Given the description of an element on the screen output the (x, y) to click on. 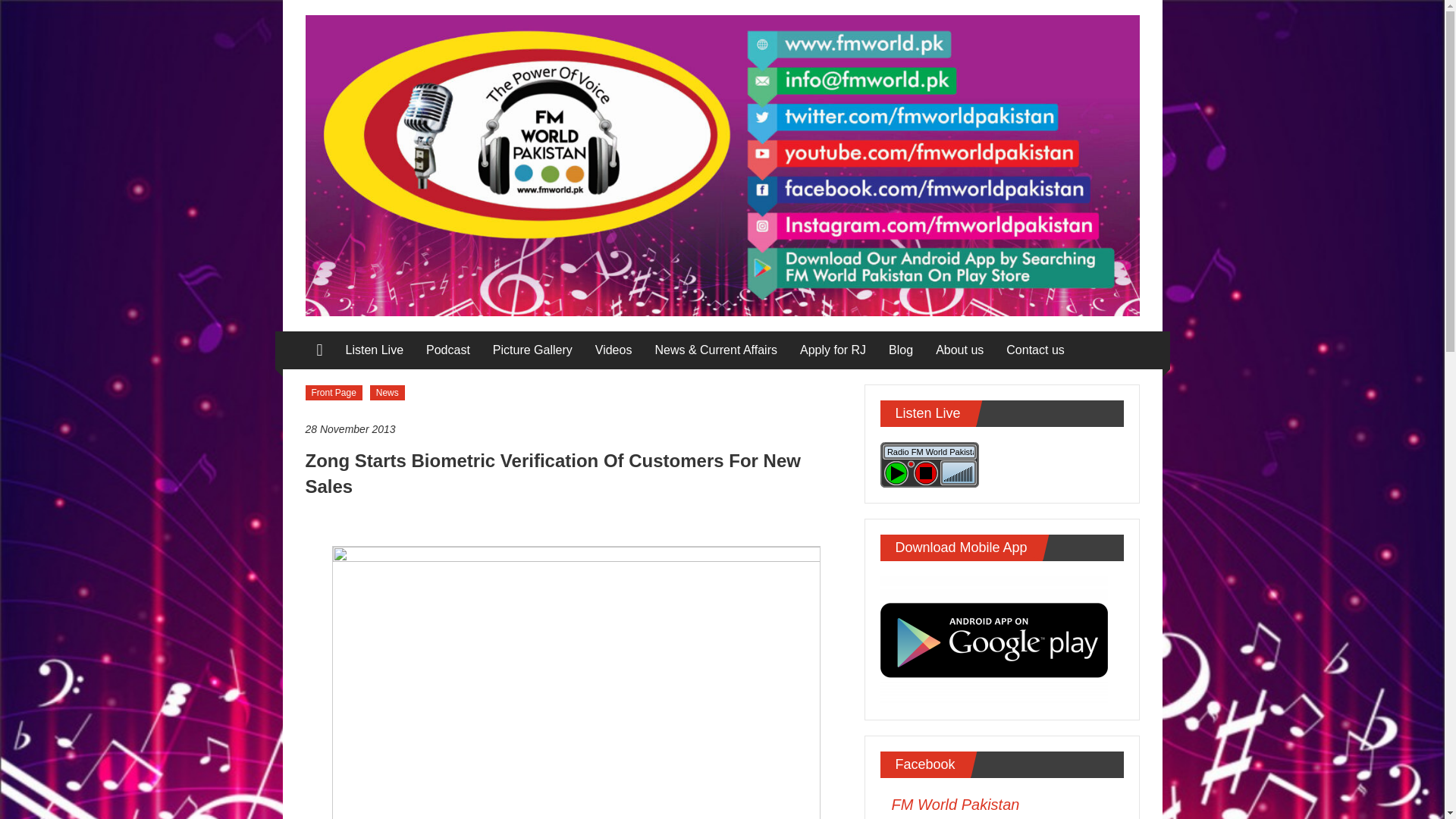
News (386, 392)
Front Page (332, 392)
Podcast (448, 350)
FM World Pakistan (955, 804)
4:19 PM (575, 429)
Contact us (1035, 350)
Listen Live (375, 350)
Apply for RJ (832, 350)
28 November 2013 (575, 429)
About us (960, 350)
Picture Gallery (532, 350)
Videos (613, 350)
